Given the description of an element on the screen output the (x, y) to click on. 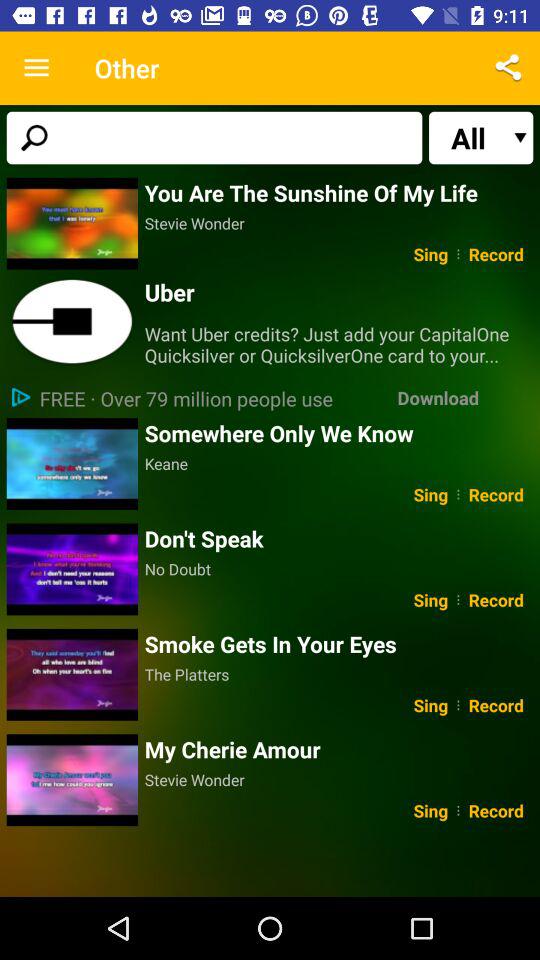
press the icon to the left of other (36, 68)
